Given the description of an element on the screen output the (x, y) to click on. 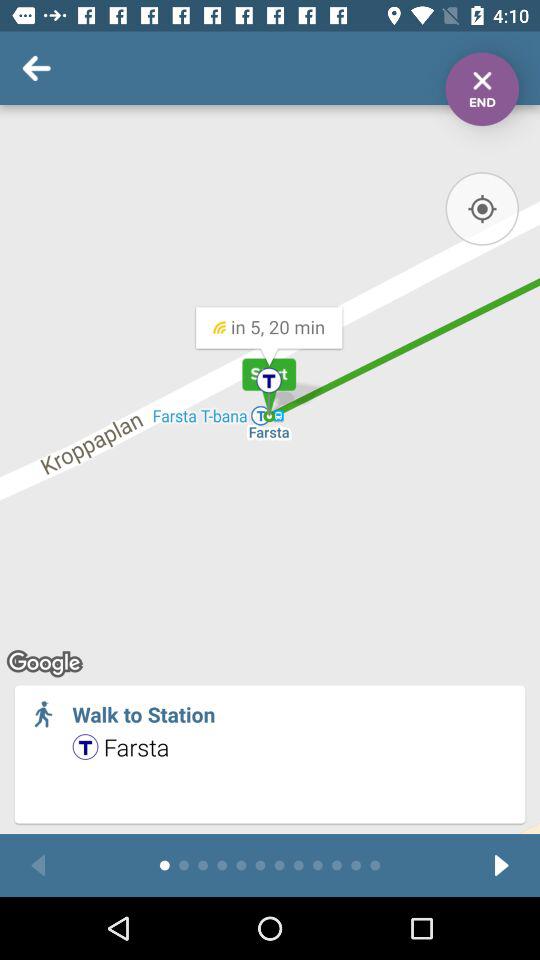
go forward (501, 865)
